Given the description of an element on the screen output the (x, y) to click on. 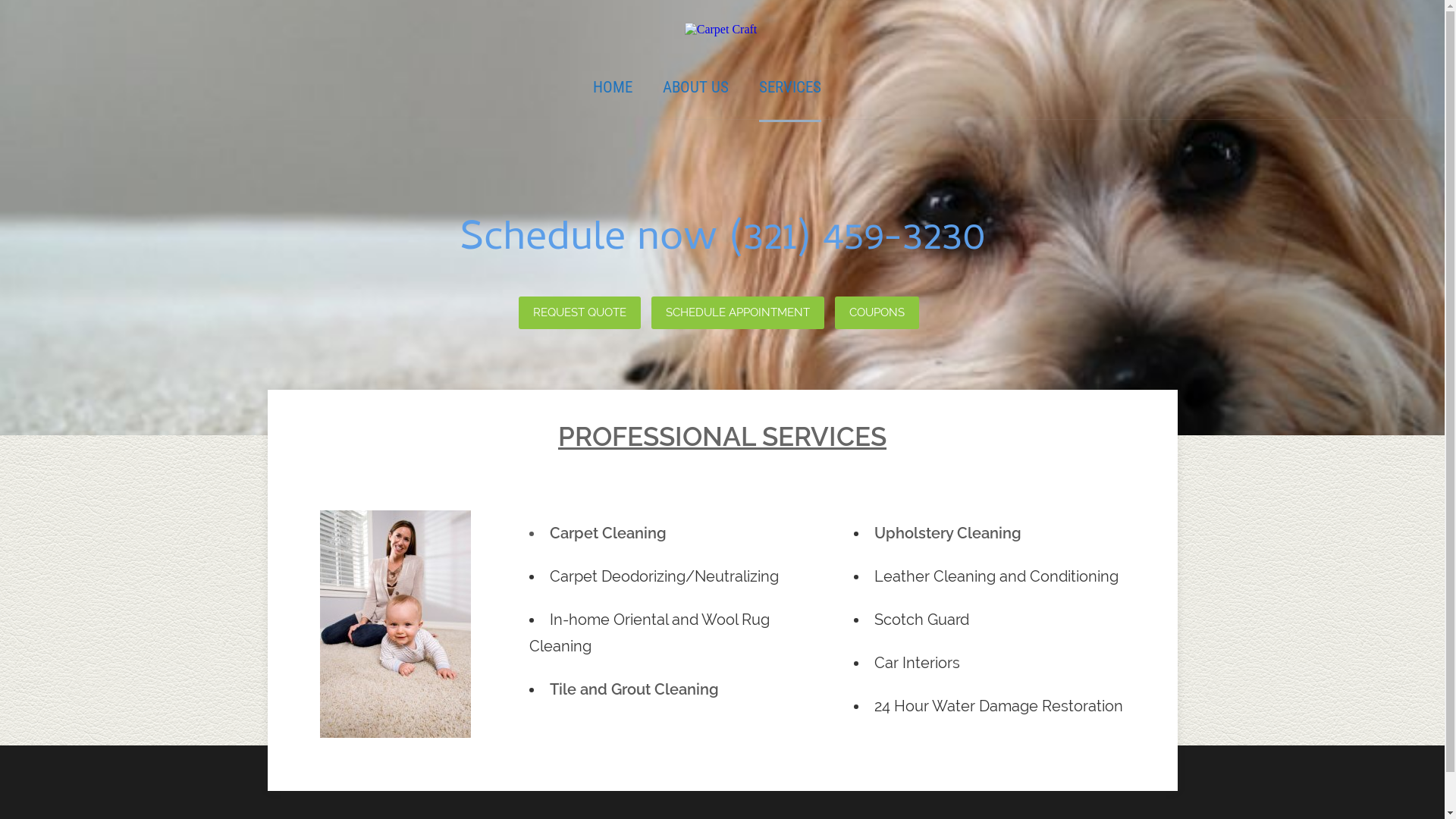
Schedule now (321) 459-3230 Element type: text (722, 240)
REQUEST QUOTE Element type: text (579, 312)
Carpet Cleaning Element type: text (607, 533)
SCHEDULE APPOINTMENT Element type: text (736, 312)
COUPONS Element type: text (876, 312)
SERVICES Element type: text (790, 87)
HOME Element type: text (612, 87)
ABOUT US Element type: text (695, 87)
